Given the description of an element on the screen output the (x, y) to click on. 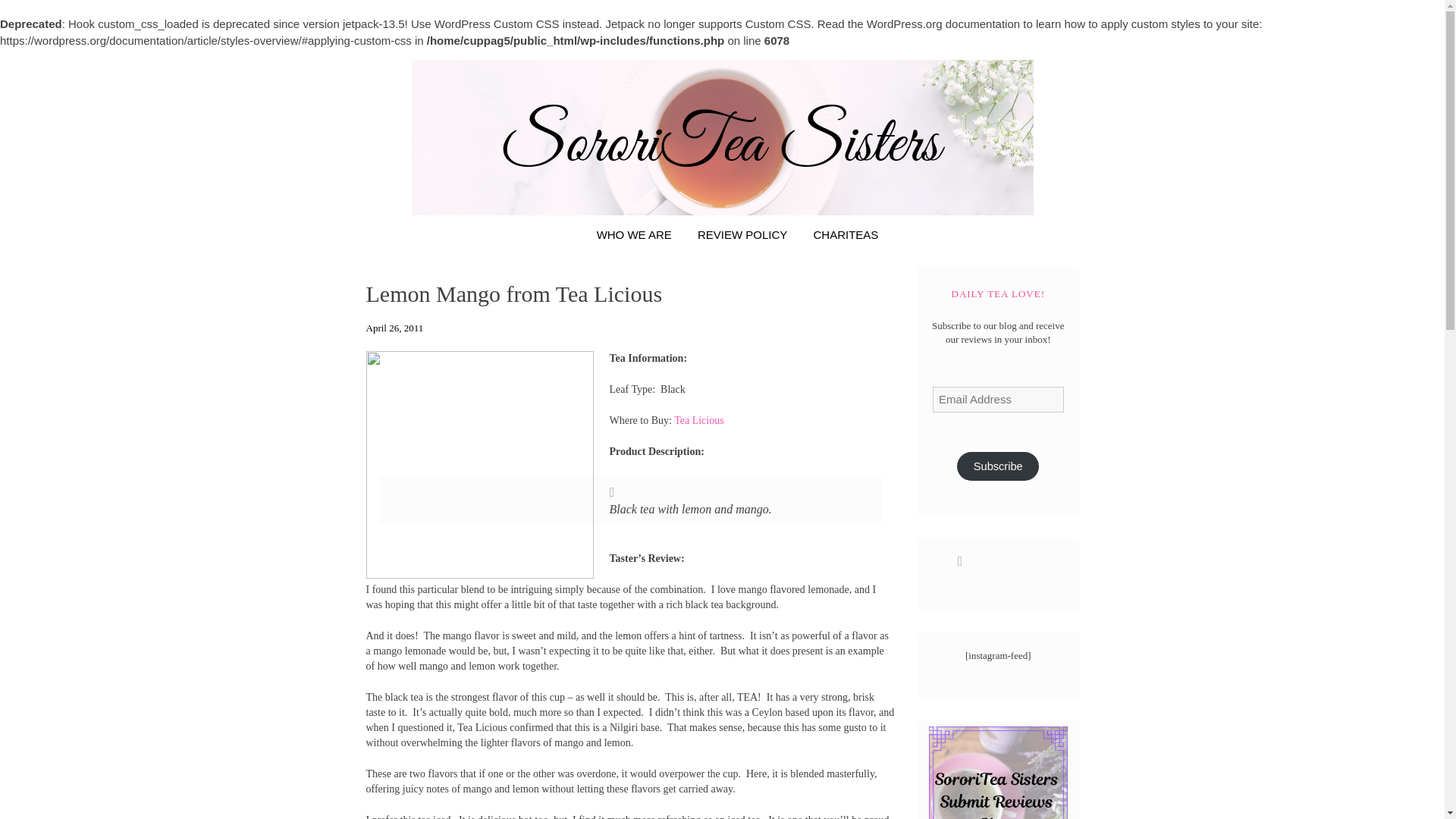
Subscribe (997, 466)
WHO WE ARE (633, 234)
REVIEW POLICY (741, 234)
CHARITEAS (845, 234)
Tea Licious (698, 419)
